Given the description of an element on the screen output the (x, y) to click on. 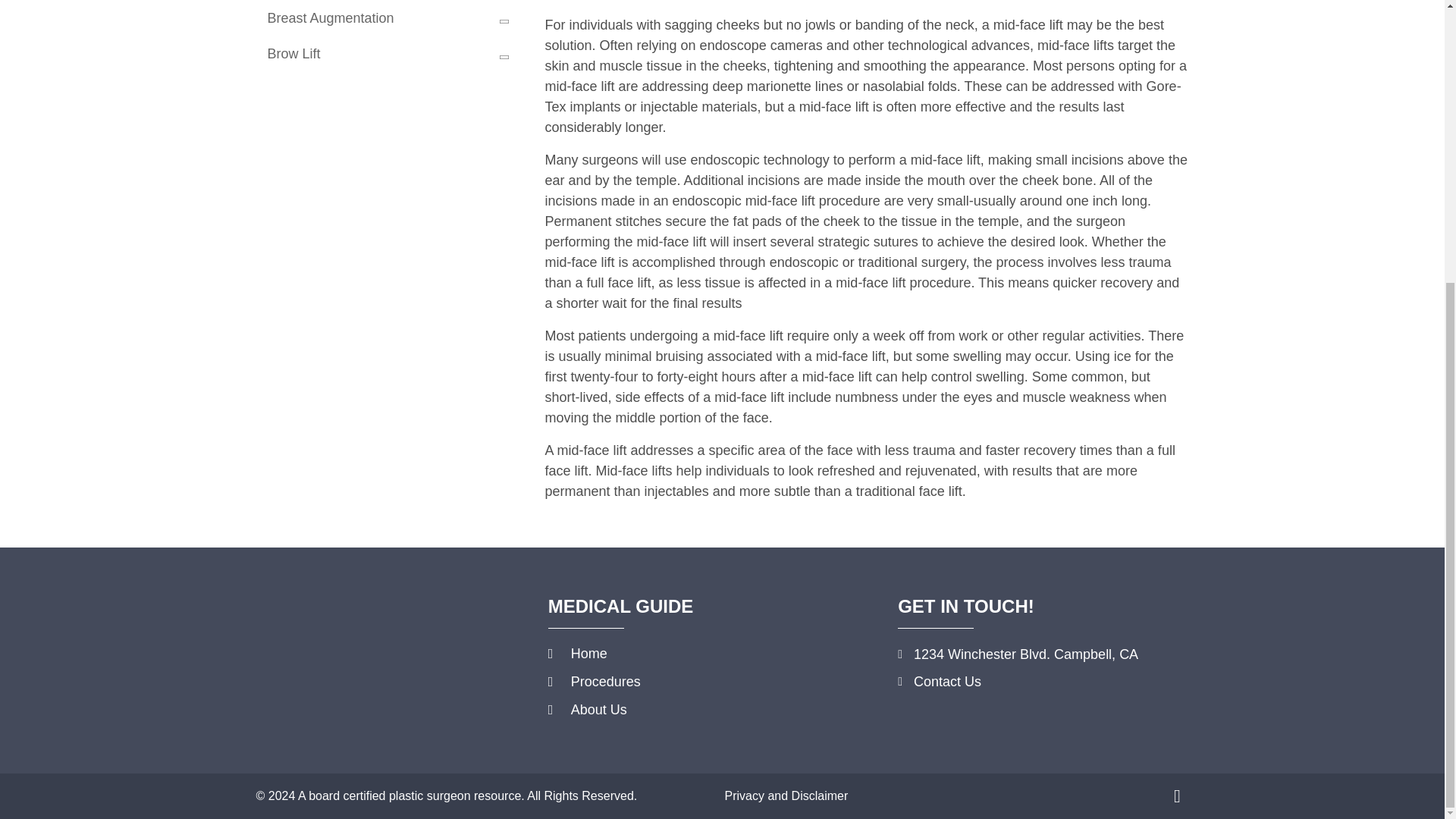
Facebook (1177, 795)
Breast Augmentation (385, 18)
